Given the description of an element on the screen output the (x, y) to click on. 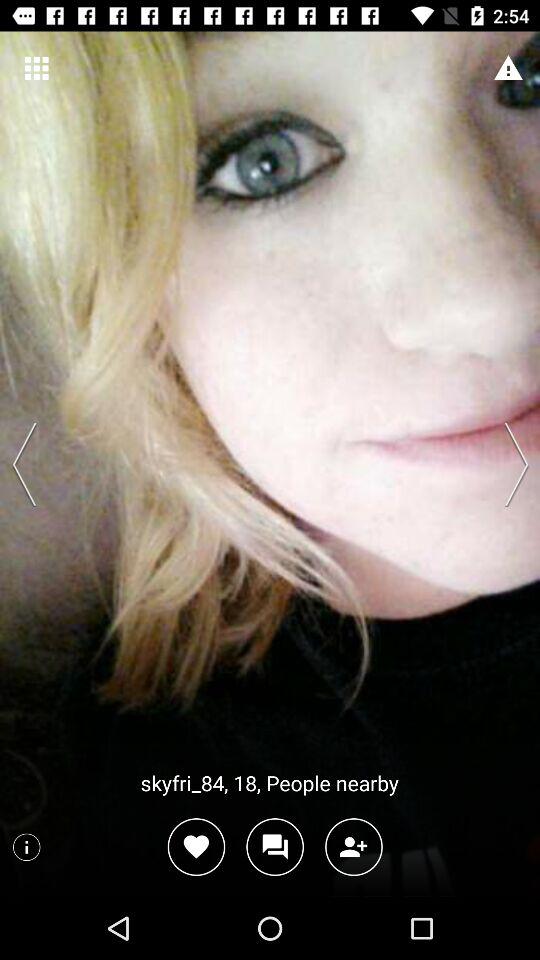
choose item at the bottom left corner (26, 847)
